Given the description of an element on the screen output the (x, y) to click on. 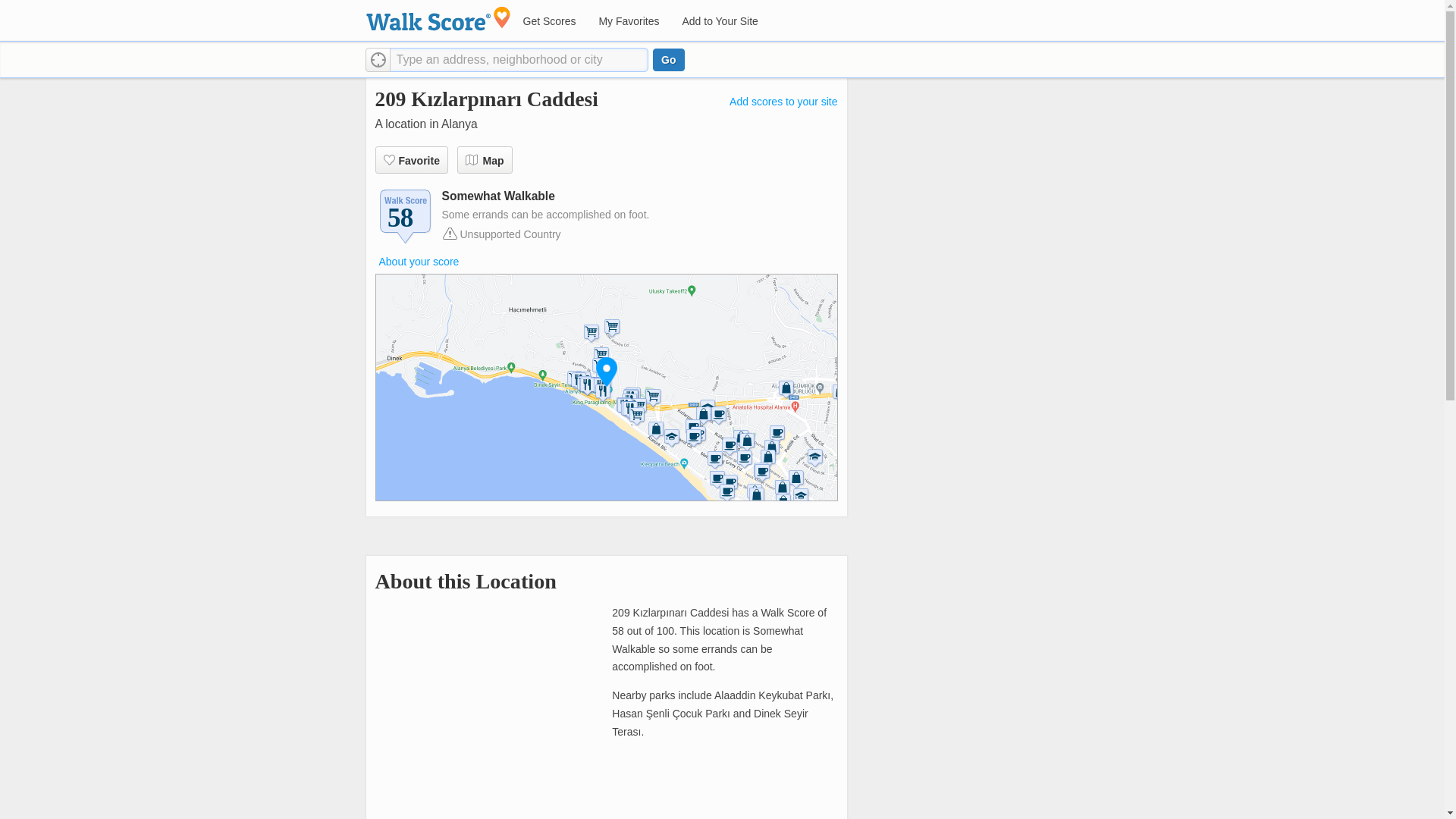
Go (668, 59)
Add scores to your site (783, 101)
Get Scores (548, 21)
Map (484, 159)
Add to Your Site (719, 21)
My Favorites (628, 21)
Favorite (410, 159)
About your score (419, 261)
